Given the description of an element on the screen output the (x, y) to click on. 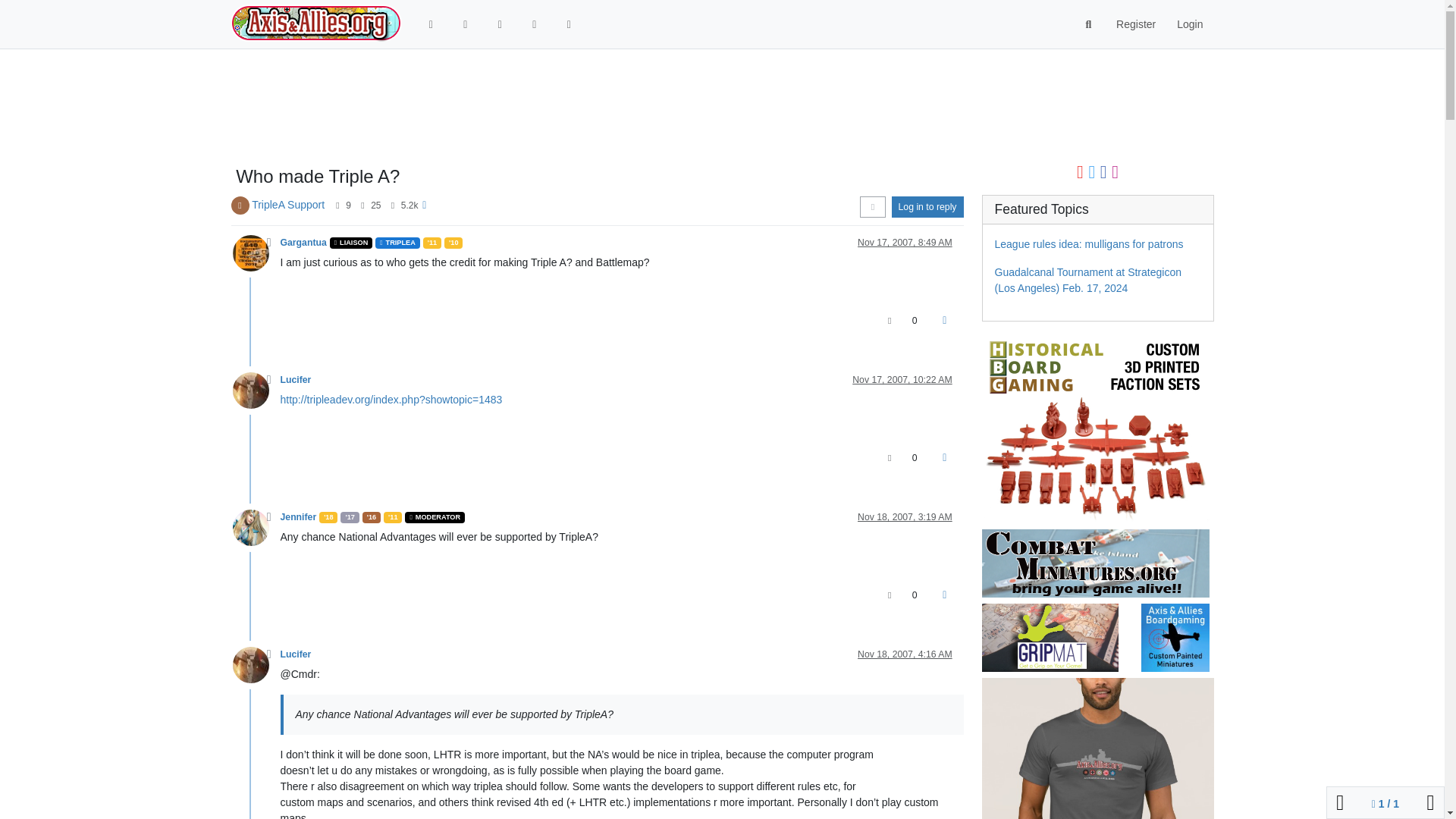
Log in to reply (927, 206)
Nov 17, 2007, 8:49 AM (904, 242)
Home (430, 24)
'10 (453, 243)
Advertisement (662, 107)
Register (1135, 24)
Users (568, 24)
Search (1088, 24)
Login (1189, 24)
LIAISON (351, 243)
Categories (465, 24)
Gargantua (303, 242)
Posters (337, 204)
Popular (533, 24)
TRIPLEA (397, 243)
